Given the description of an element on the screen output the (x, y) to click on. 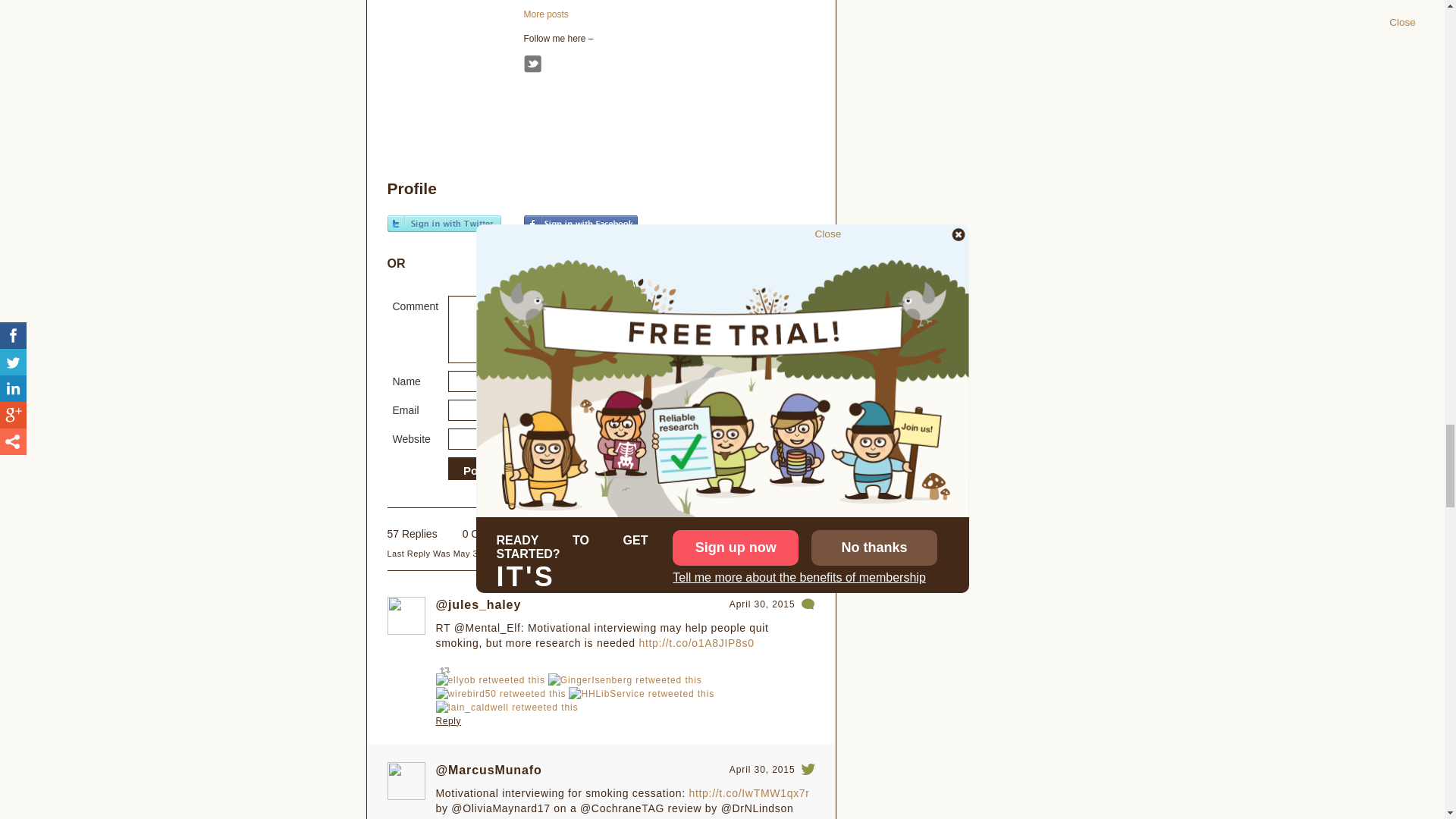
Post It (479, 470)
